Given the description of an element on the screen output the (x, y) to click on. 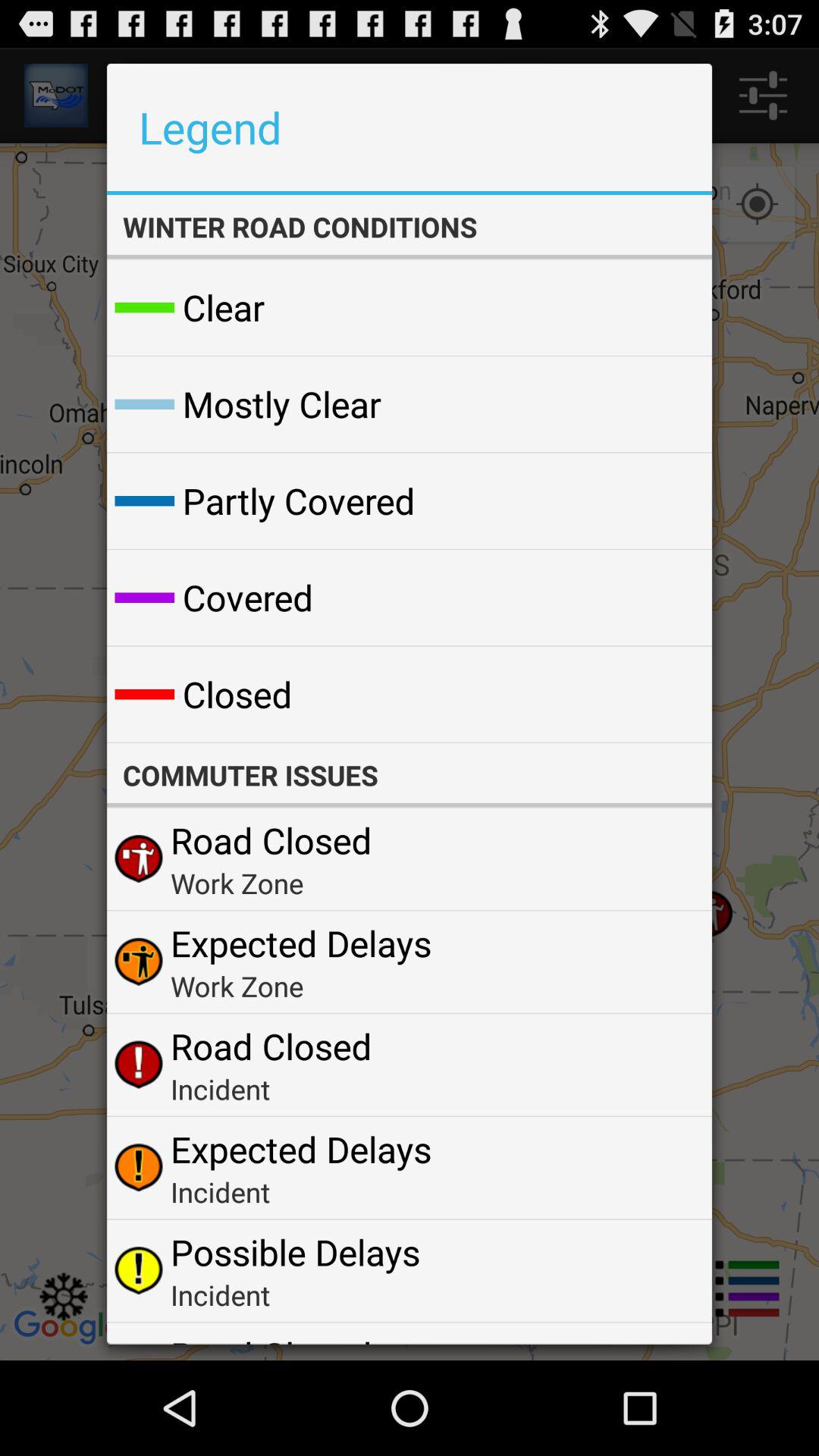
open the app next to the expected delays app (664, 961)
